Given the description of an element on the screen output the (x, y) to click on. 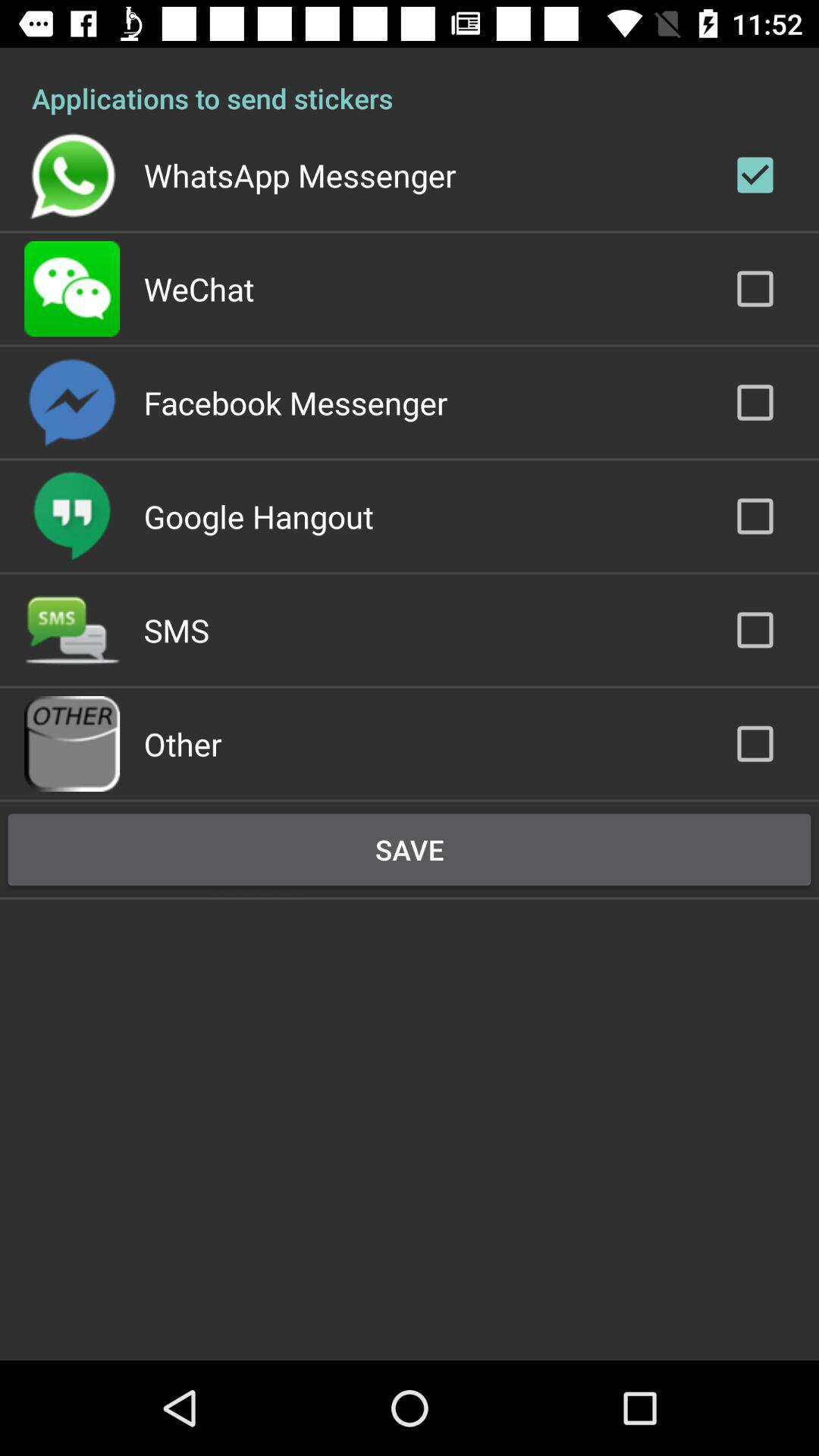
select the wechat app (198, 288)
